Given the description of an element on the screen output the (x, y) to click on. 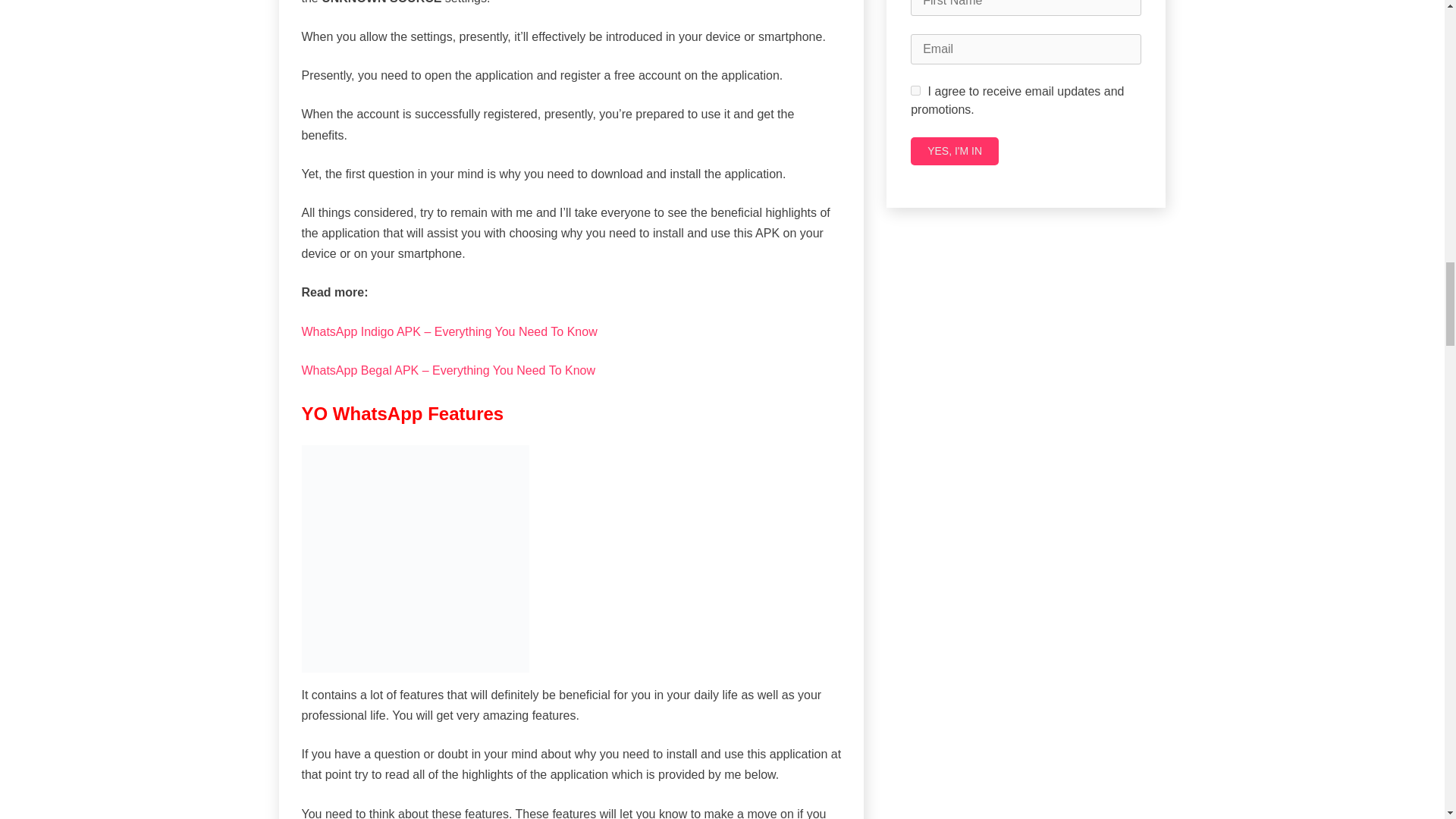
1 (915, 90)
